Given the description of an element on the screen output the (x, y) to click on. 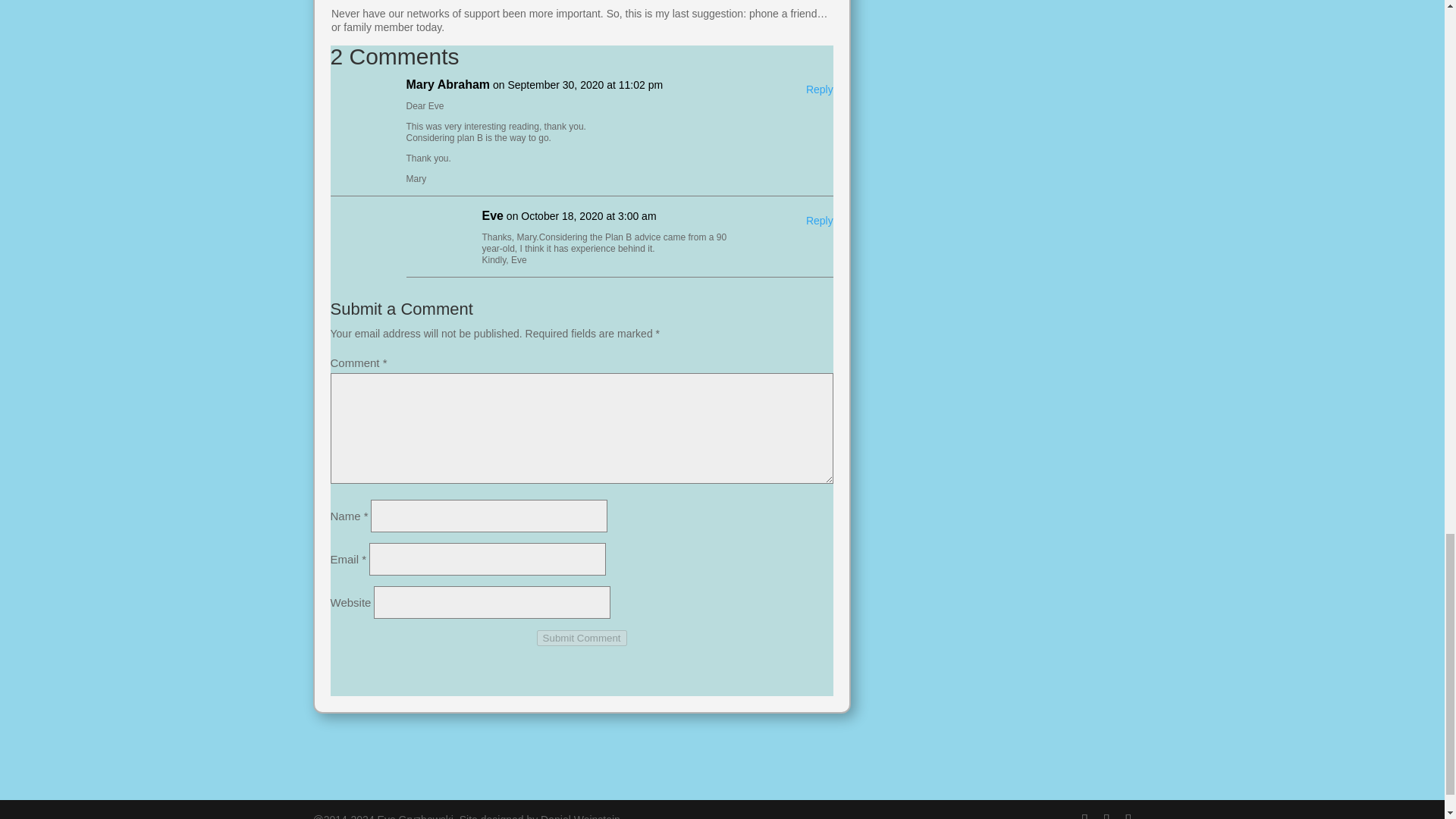
Mary Abraham (448, 85)
Reply (819, 221)
Reply (819, 90)
Submit Comment (582, 637)
